Given the description of an element on the screen output the (x, y) to click on. 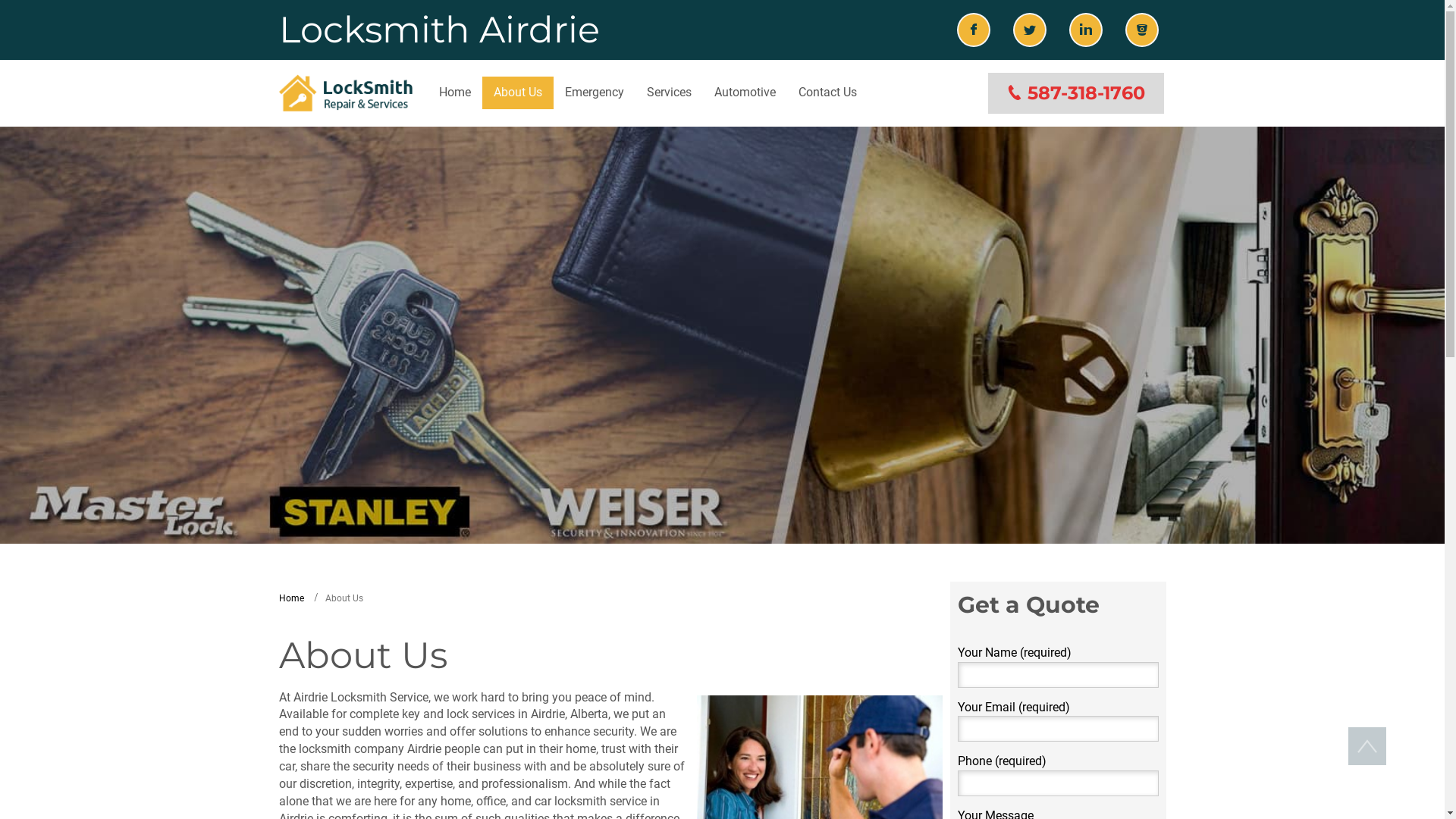
Home Element type: text (454, 92)
Contact Us Element type: text (827, 92)
Automotive Element type: text (744, 92)
About Us Element type: text (517, 92)
Home Element type: text (291, 598)
Services Element type: text (668, 92)
Emergency Element type: text (594, 92)
587-318-1760 Element type: text (1075, 93)
